Given the description of an element on the screen output the (x, y) to click on. 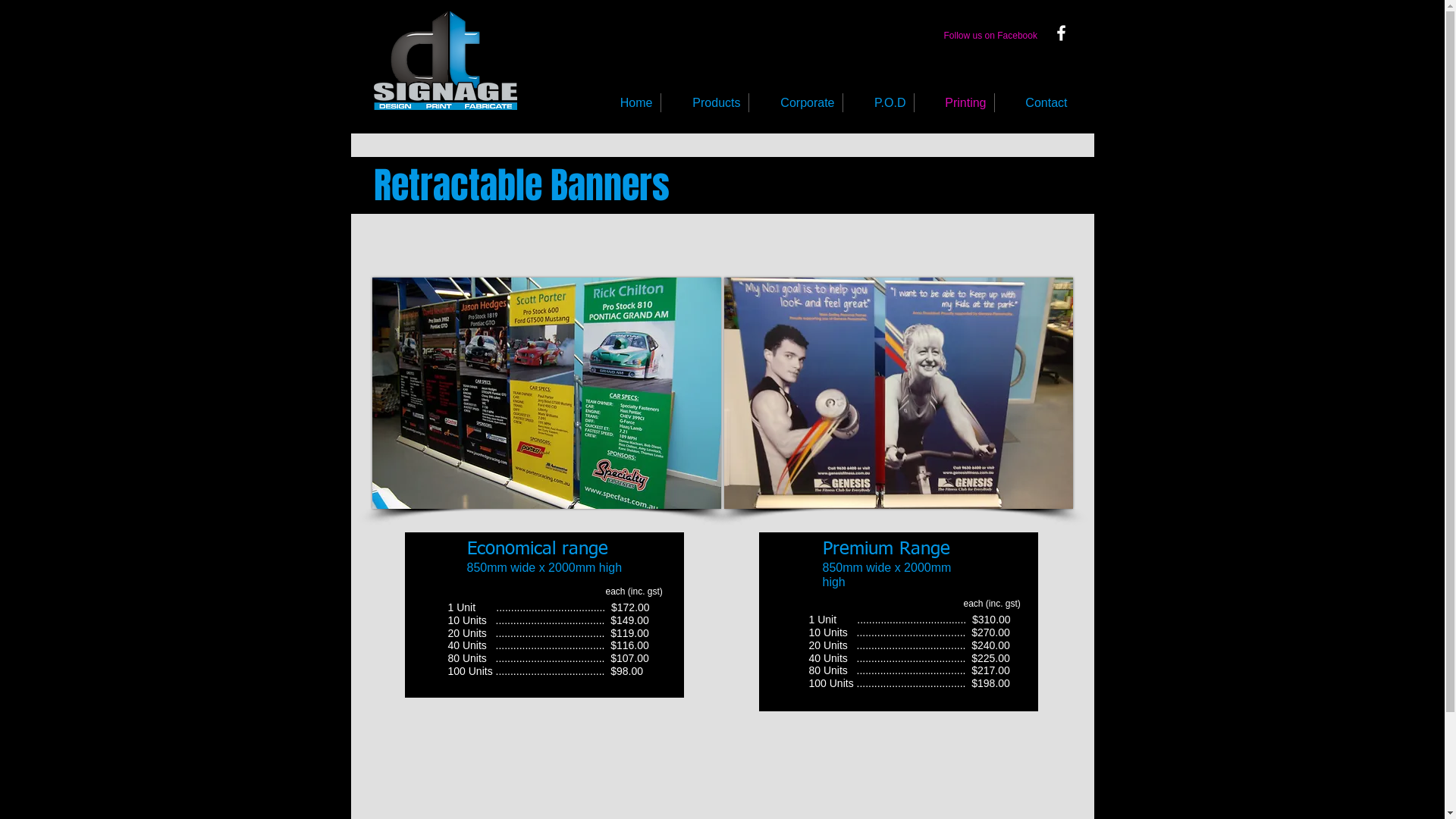
Corporate Element type: text (795, 102)
P.O.D Element type: text (878, 102)
Products Element type: text (704, 102)
Home Element type: text (624, 102)
Printing Element type: text (954, 102)
Contact Element type: text (1034, 102)
